Given the description of an element on the screen output the (x, y) to click on. 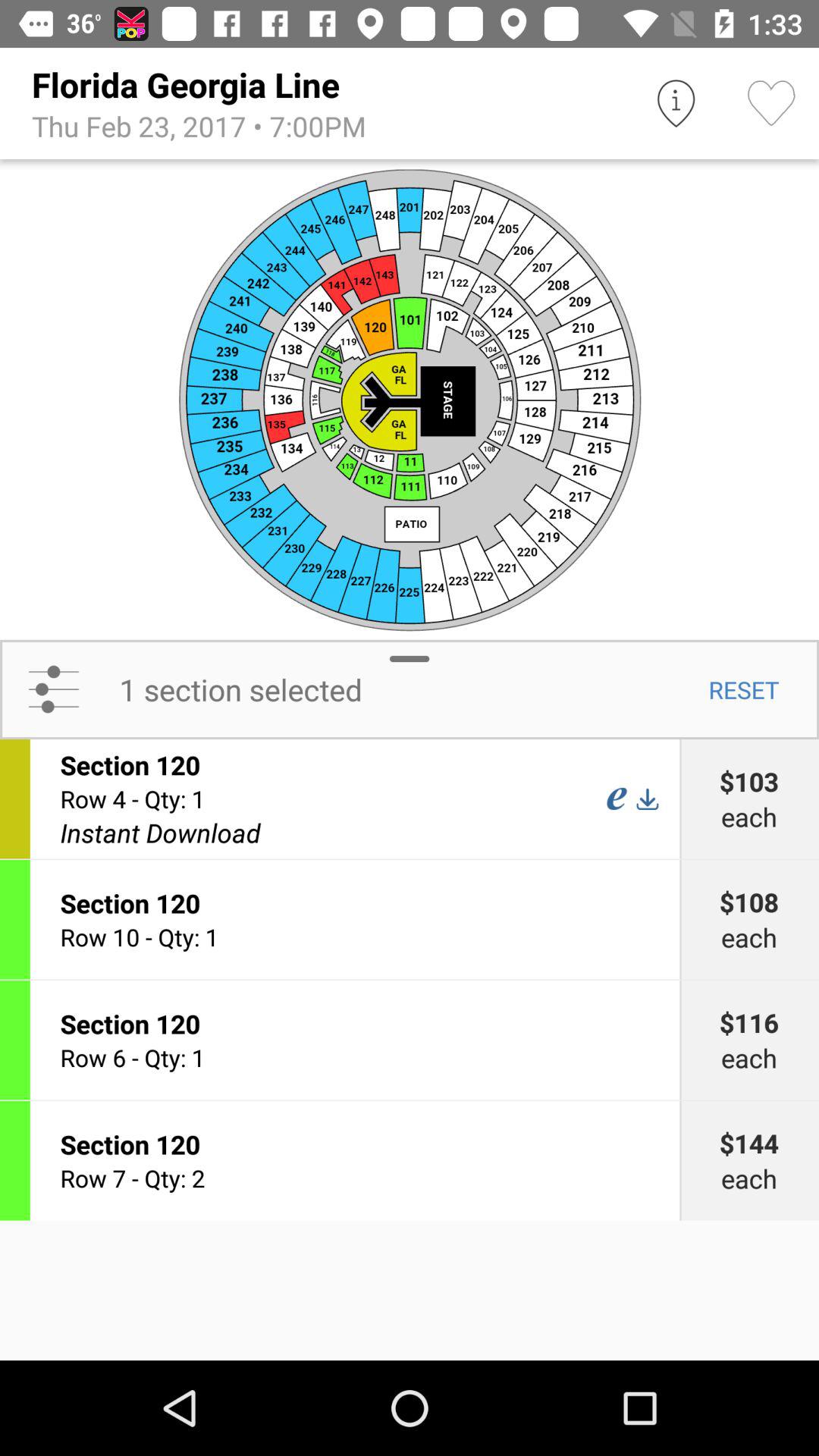
choose the icon above $103 item (743, 689)
